Given the description of an element on the screen output the (x, y) to click on. 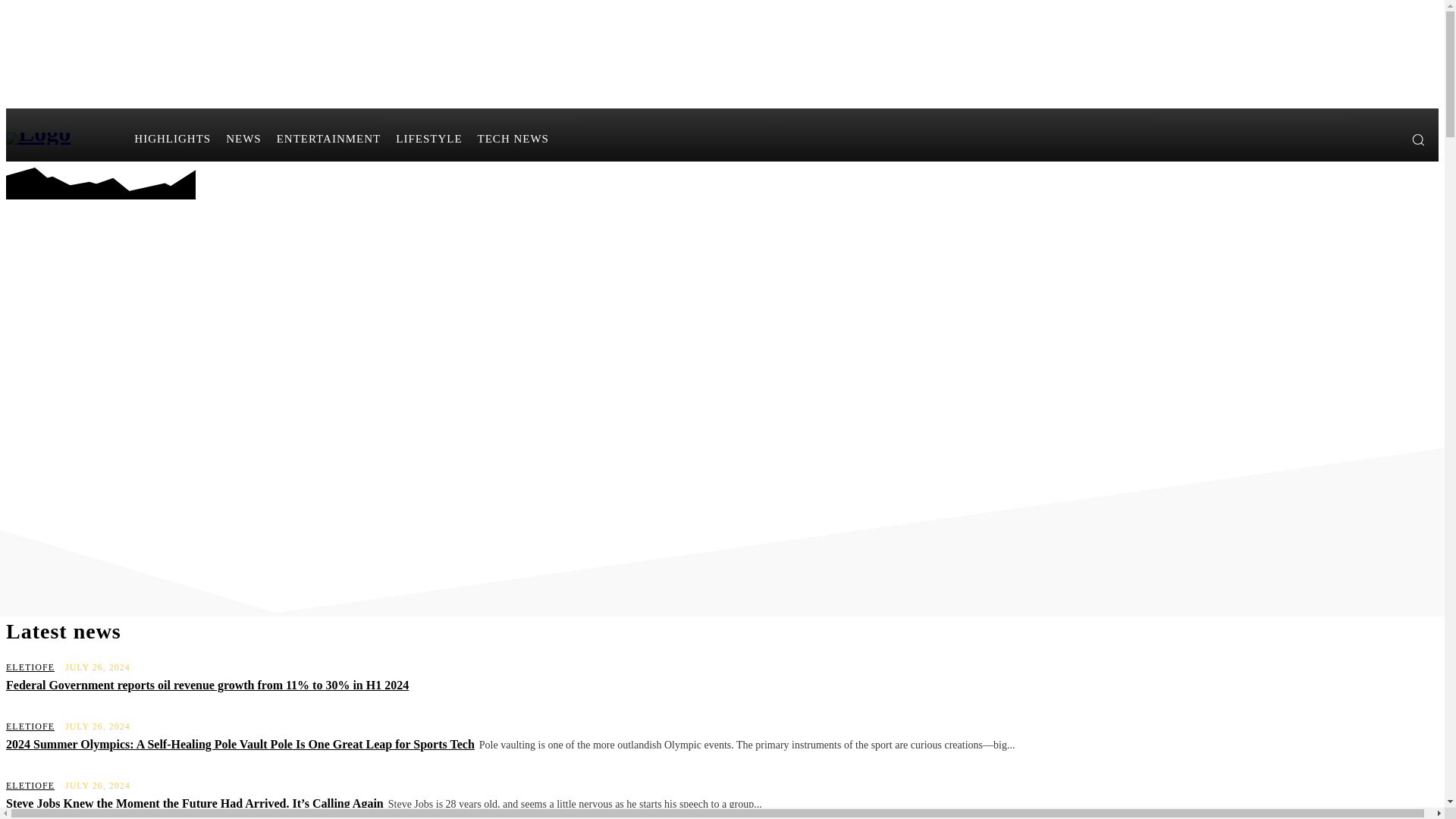
LIFESTYLE (428, 138)
ELETIOFE (30, 726)
Twitter (1384, 139)
HIGHLIGHTS (172, 138)
ENTERTAINMENT (328, 138)
TECH NEWS (513, 138)
ELETIOFE (30, 666)
Facebook (1361, 139)
ELETIOFE (30, 785)
NEWS (243, 138)
